Given the description of an element on the screen output the (x, y) to click on. 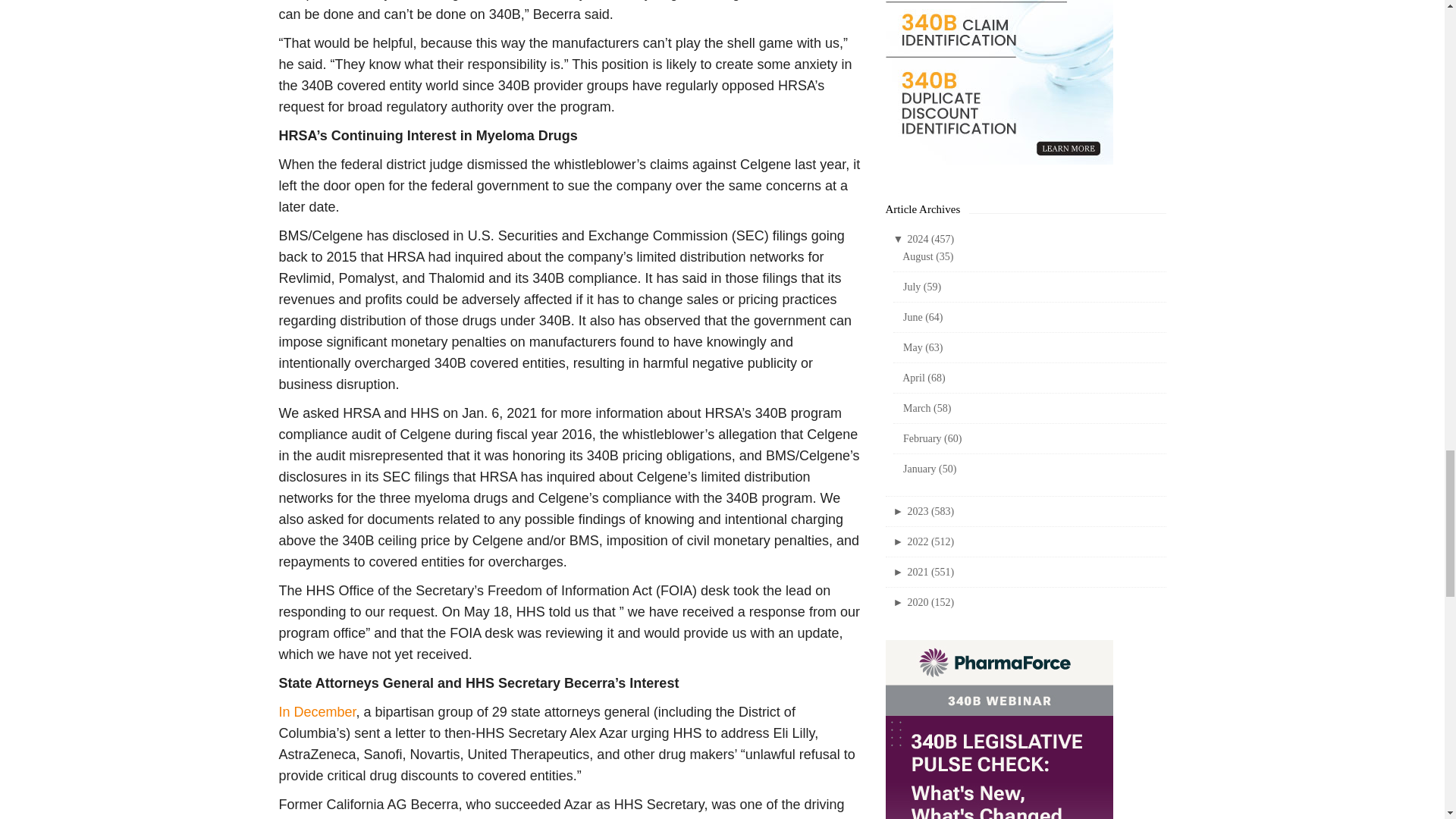
2024 (930, 238)
August (927, 256)
2024 (900, 238)
